Given the description of an element on the screen output the (x, y) to click on. 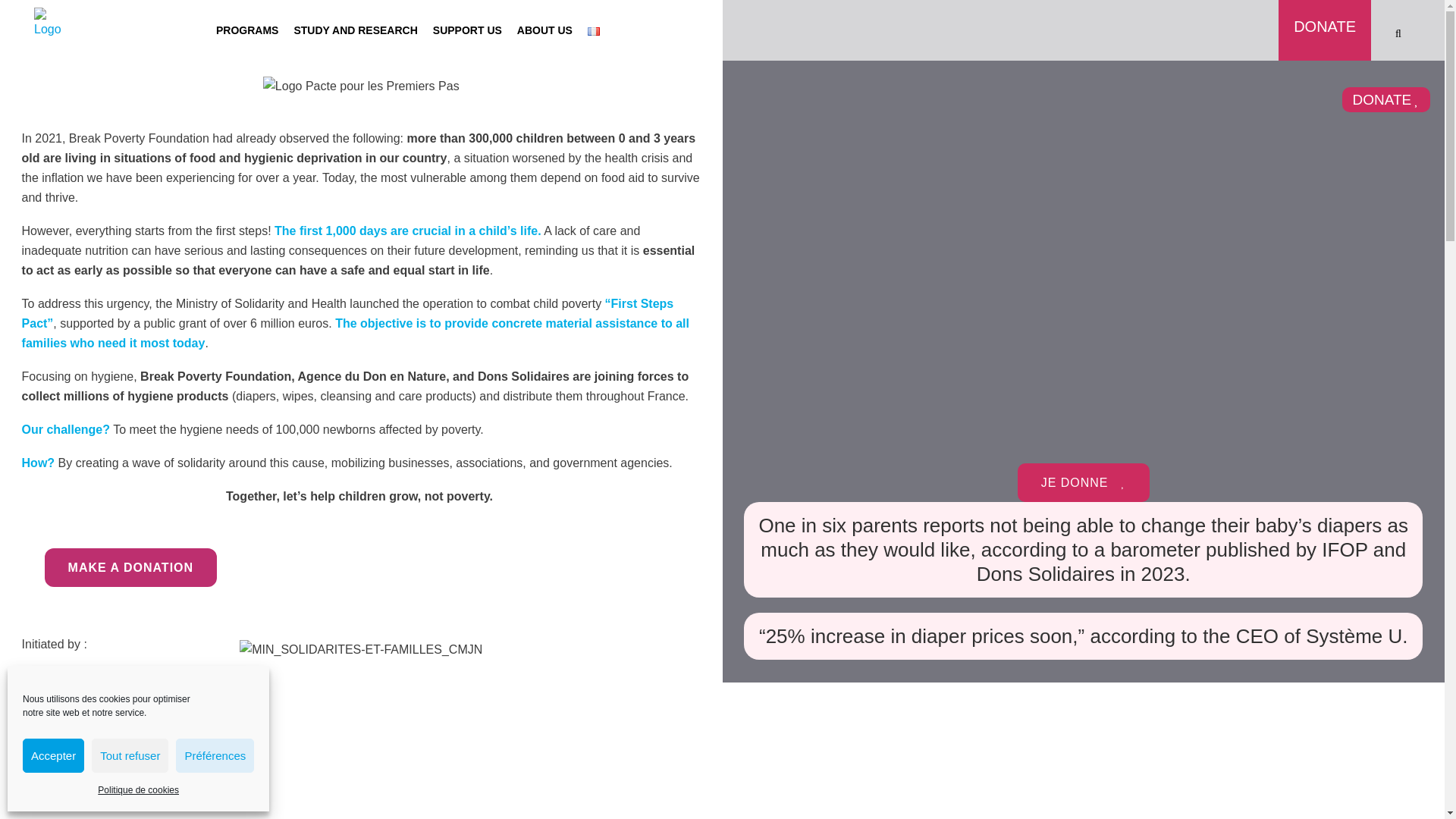
DONATE (1324, 16)
PROGRAMS (246, 30)
Accepter (53, 755)
SUPPORT US (467, 30)
Politique de cookies (138, 790)
DONATE (1385, 99)
STUDY AND RESEARCH (355, 30)
Tout refuser (129, 755)
